Given the description of an element on the screen output the (x, y) to click on. 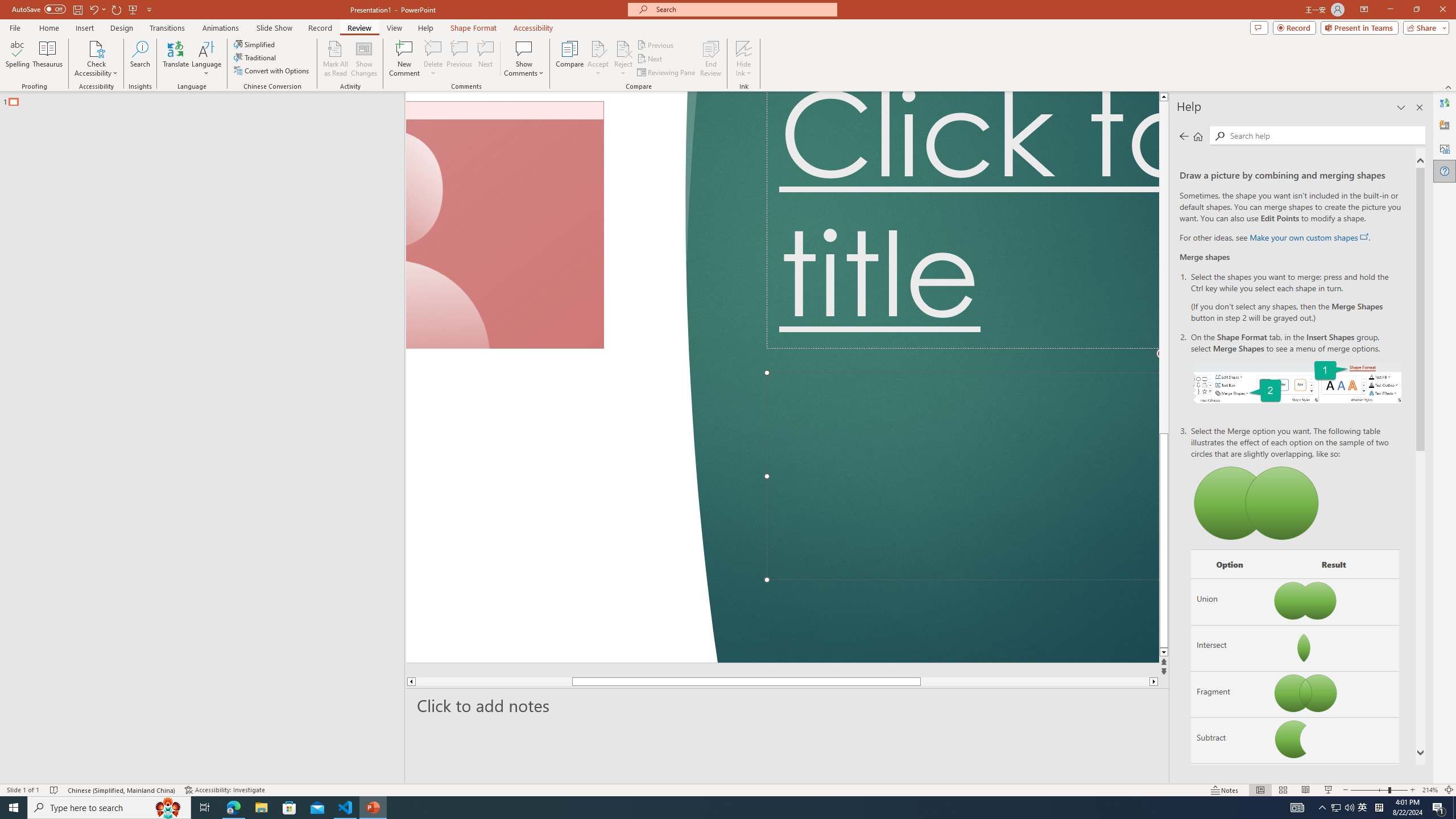
End Review (710, 58)
Previous (655, 44)
Intersect (1229, 647)
